Given the description of an element on the screen output the (x, y) to click on. 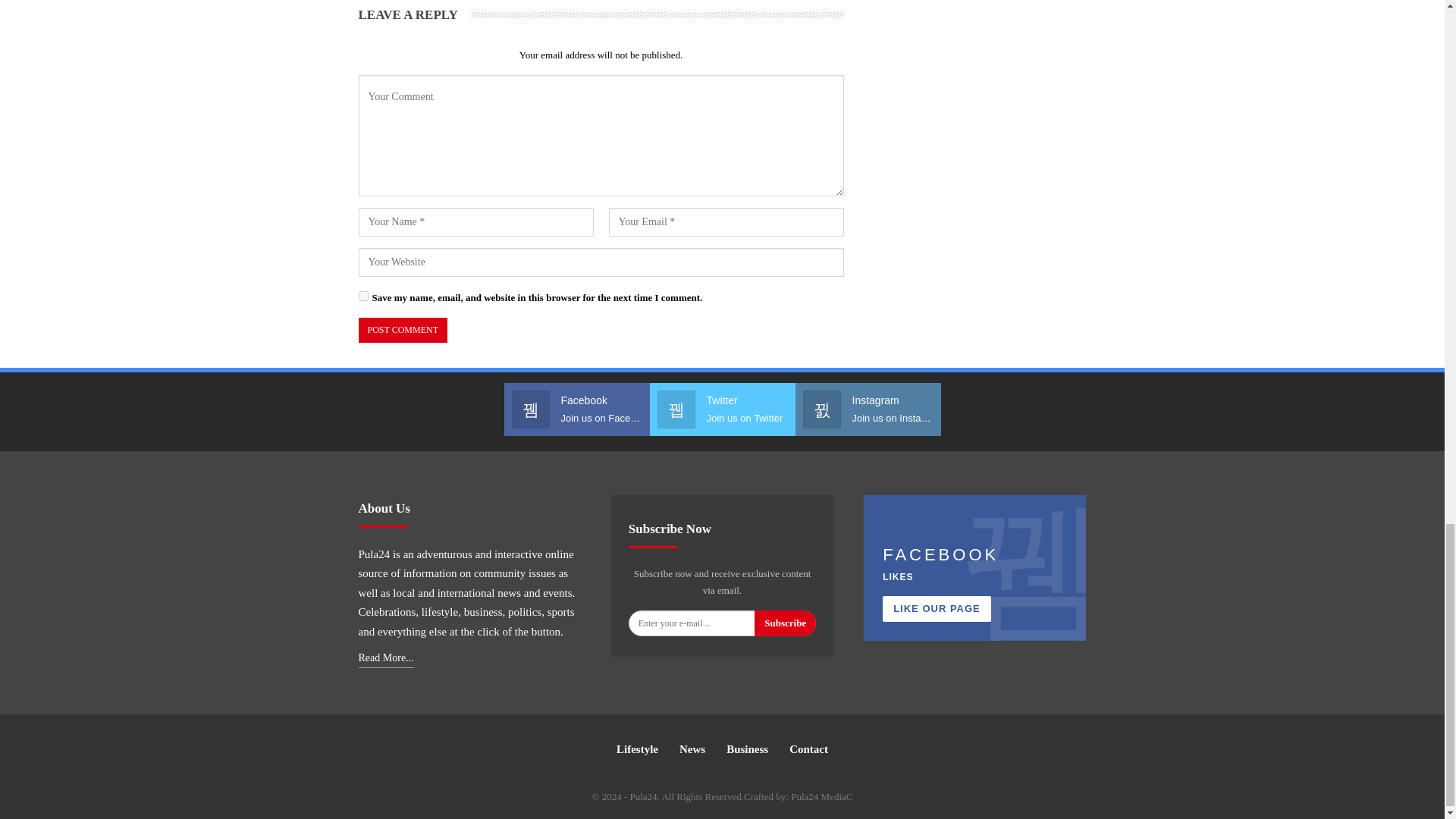
Post Comment (402, 330)
yes (363, 296)
